Given the description of an element on the screen output the (x, y) to click on. 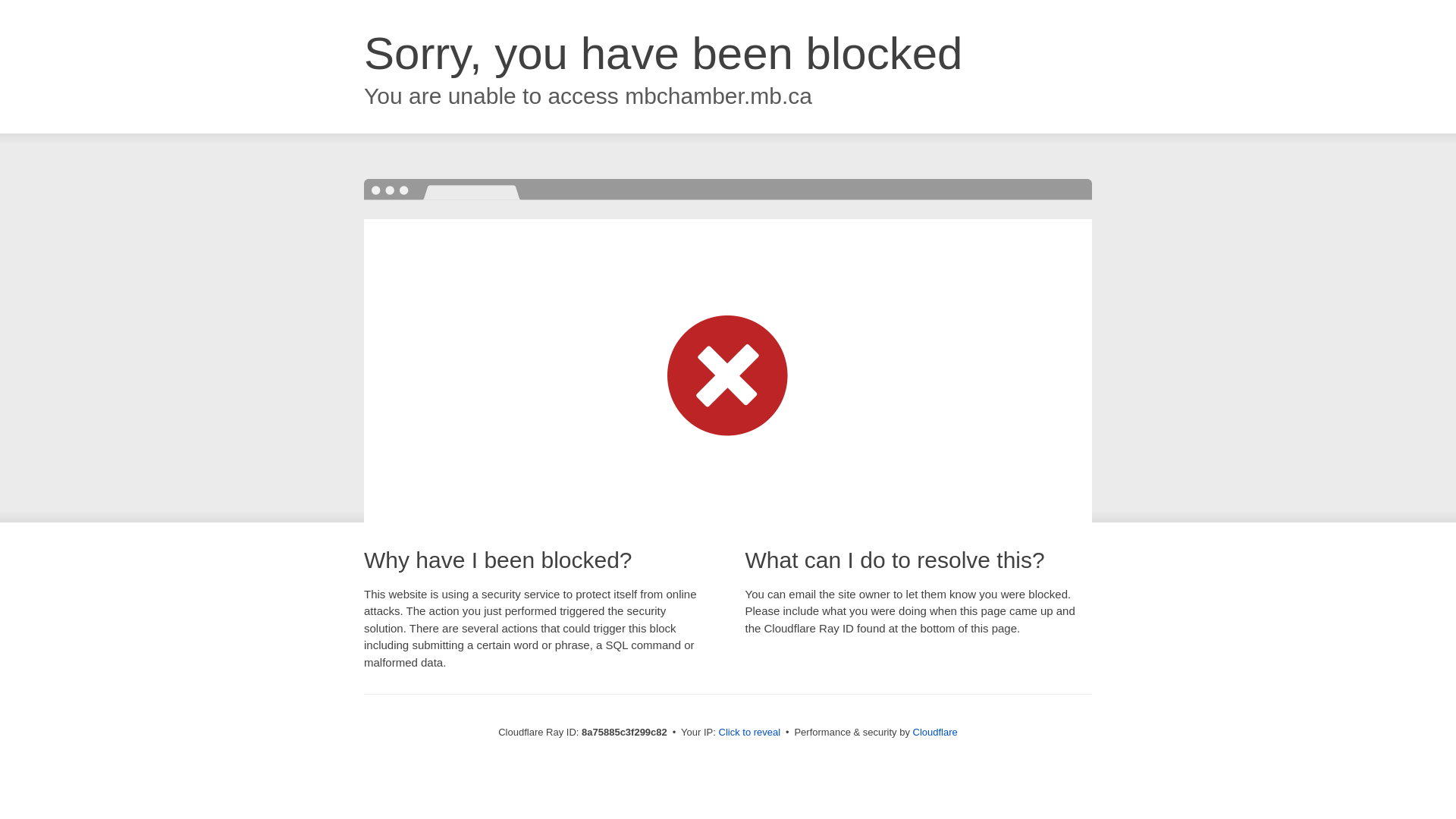
Cloudflare (935, 731)
Click to reveal (749, 732)
